Given the description of an element on the screen output the (x, y) to click on. 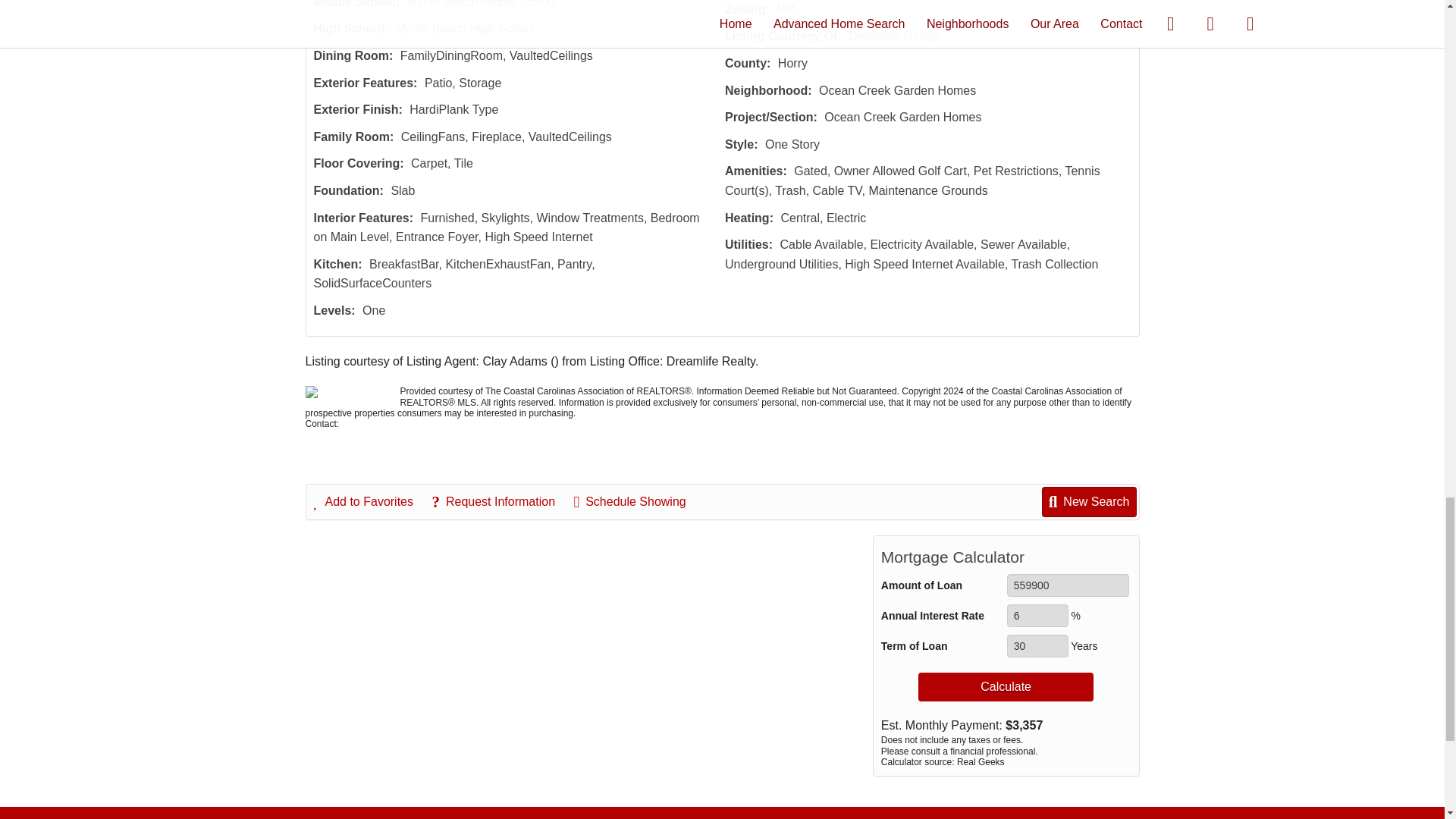
6 (1037, 615)
30 (1037, 645)
559900 (1068, 585)
